Given the description of an element on the screen output the (x, y) to click on. 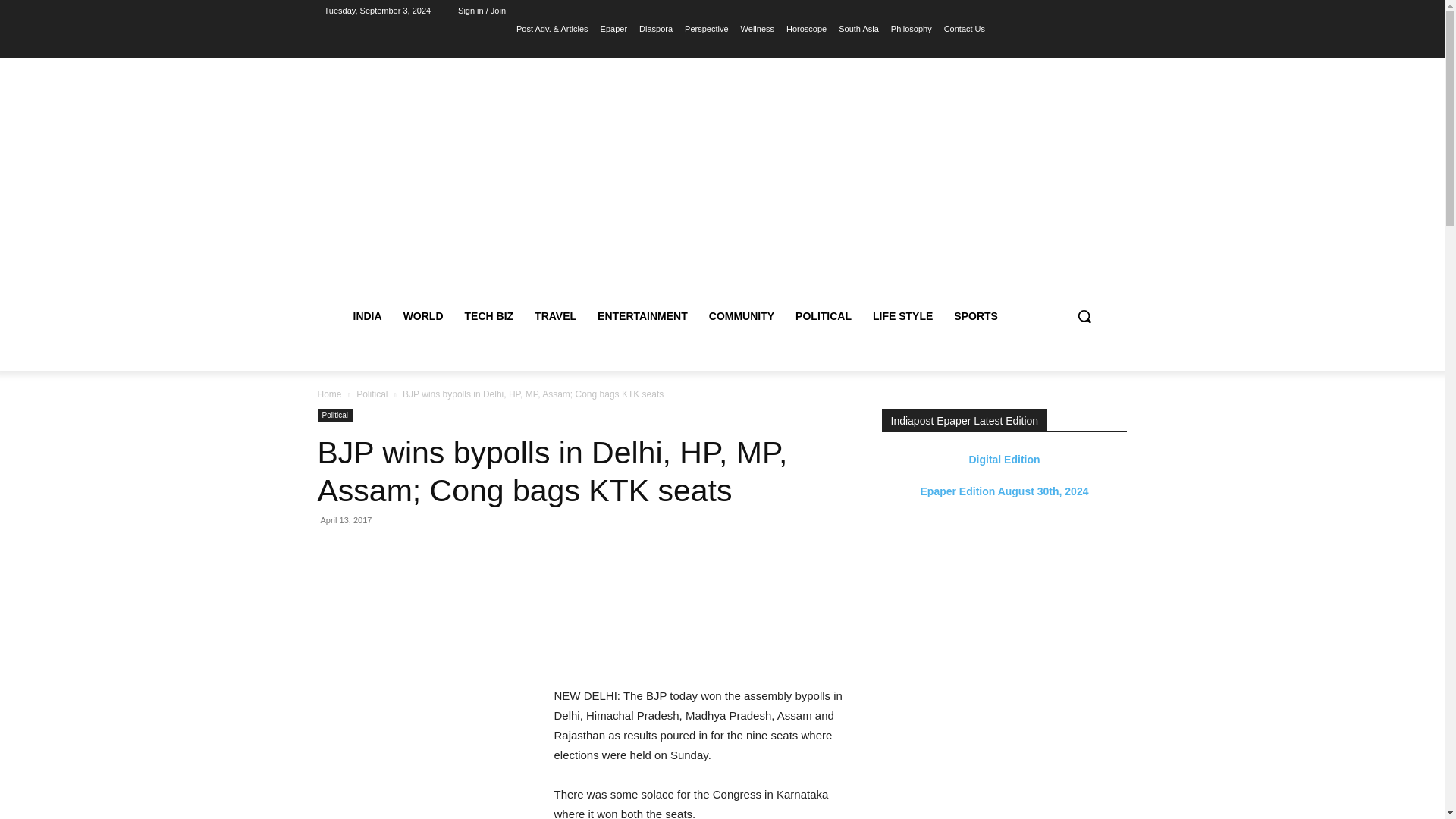
Diaspora (655, 28)
BJP wins bypolls in Delhi, HP, MP, Assam;Cong bags KTK seats (426, 604)
View all posts in Political (371, 394)
South Asia (858, 28)
SPORTS (976, 316)
Horoscope (806, 28)
Perspective (706, 28)
WORLD (423, 316)
TECH BIZ (489, 316)
Political (371, 394)
